Given the description of an element on the screen output the (x, y) to click on. 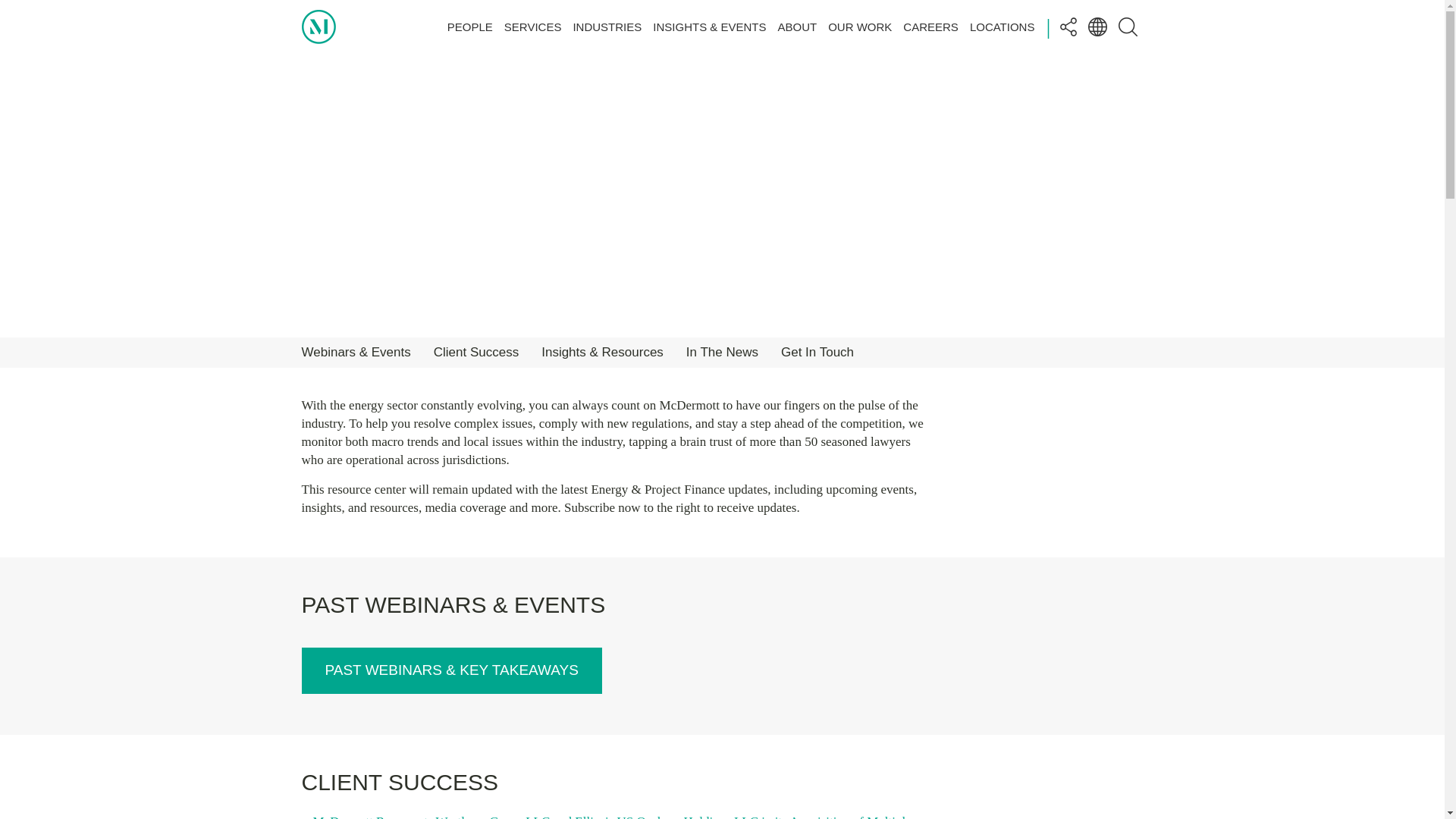
In The News (721, 352)
Client Success (475, 352)
INDUSTRIES (607, 25)
Get In Touch (816, 352)
Client Success (475, 352)
LOCATIONS (1002, 25)
In The News (721, 352)
PEOPLE (469, 25)
Get In Touch (816, 352)
CAREERS (930, 25)
SERVICES (532, 25)
ABOUT (796, 25)
OUR WORK (859, 25)
